Given the description of an element on the screen output the (x, y) to click on. 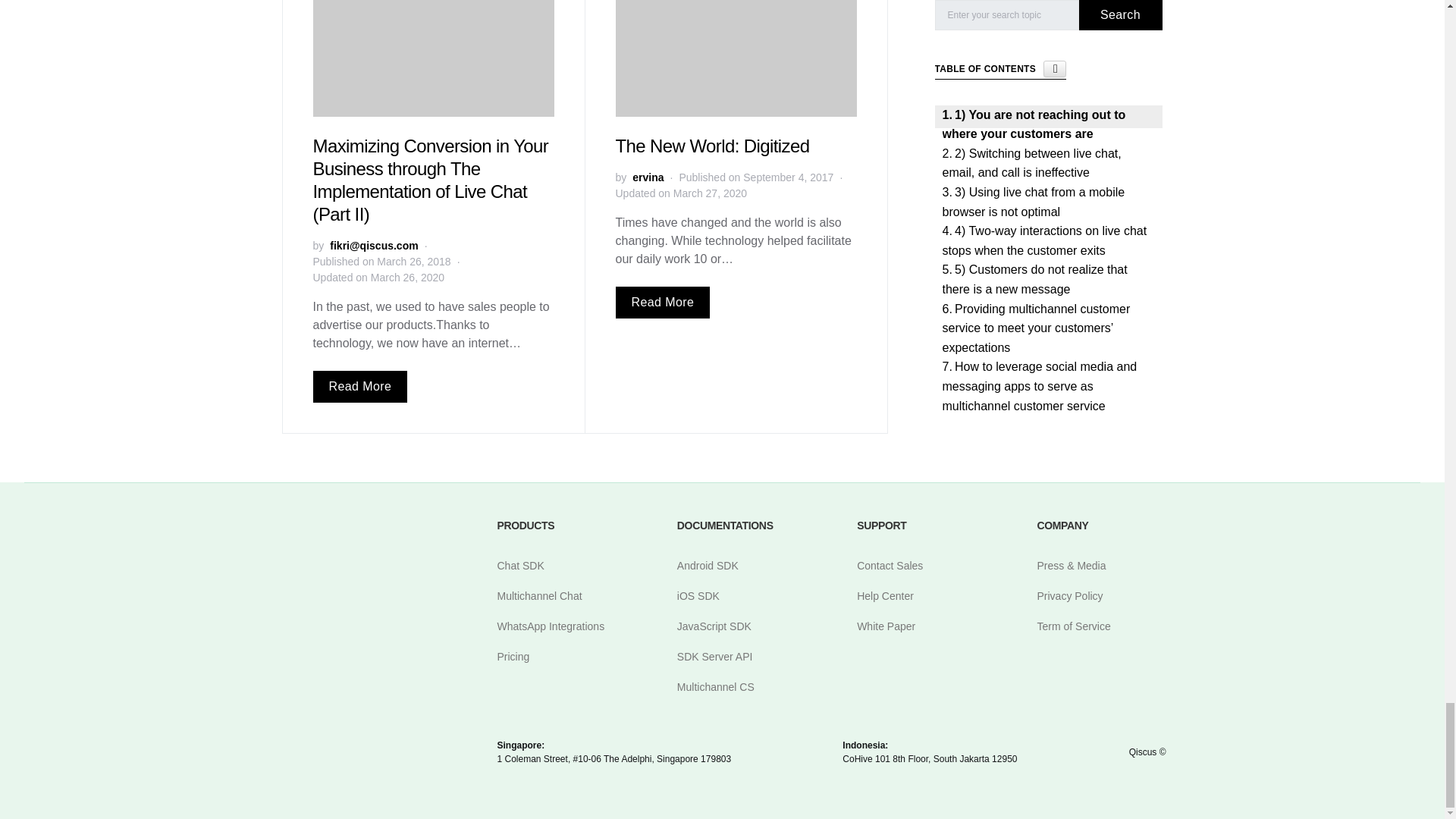
View all posts by ervina (647, 176)
